Given the description of an element on the screen output the (x, y) to click on. 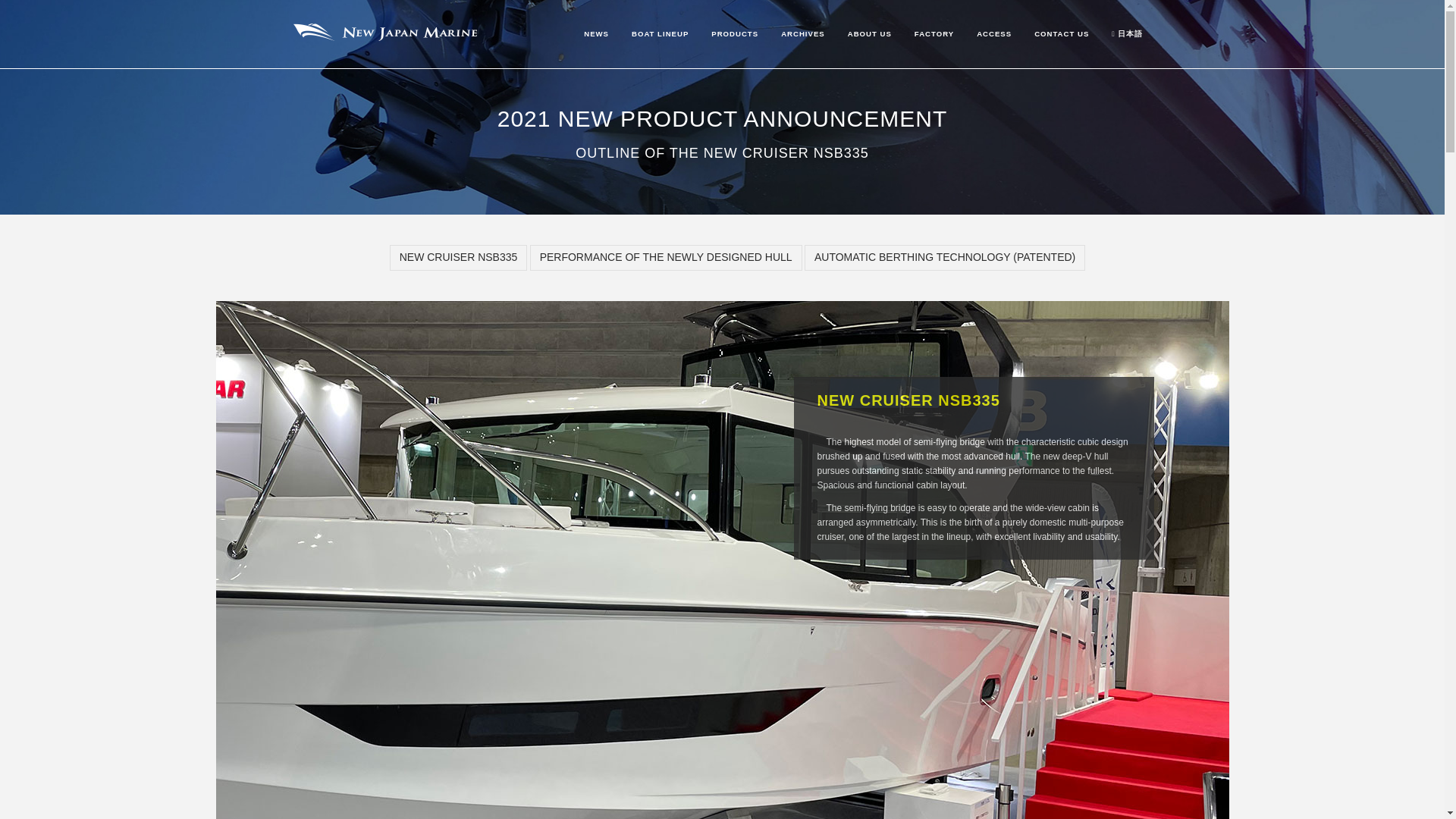
FACTORY (933, 56)
ACCESS (994, 53)
PERFORMANCE OF THE NEWLY DESIGNED HULL (665, 270)
PRODUCTS (735, 63)
ABOUT US (868, 58)
CONTACT US (1061, 52)
NEWS (596, 67)
NEW CRUISER NSB335 (458, 271)
BOAT LINEUP (660, 64)
NEW JAPAN MARINE (384, 34)
ARCHIVES (802, 60)
NEW CRUISER NSB335 (458, 257)
NEW JAPAN MARINE (384, 69)
PERFORMANCE OF THE NEWLY DESIGNED HULL (665, 257)
